Given the description of an element on the screen output the (x, y) to click on. 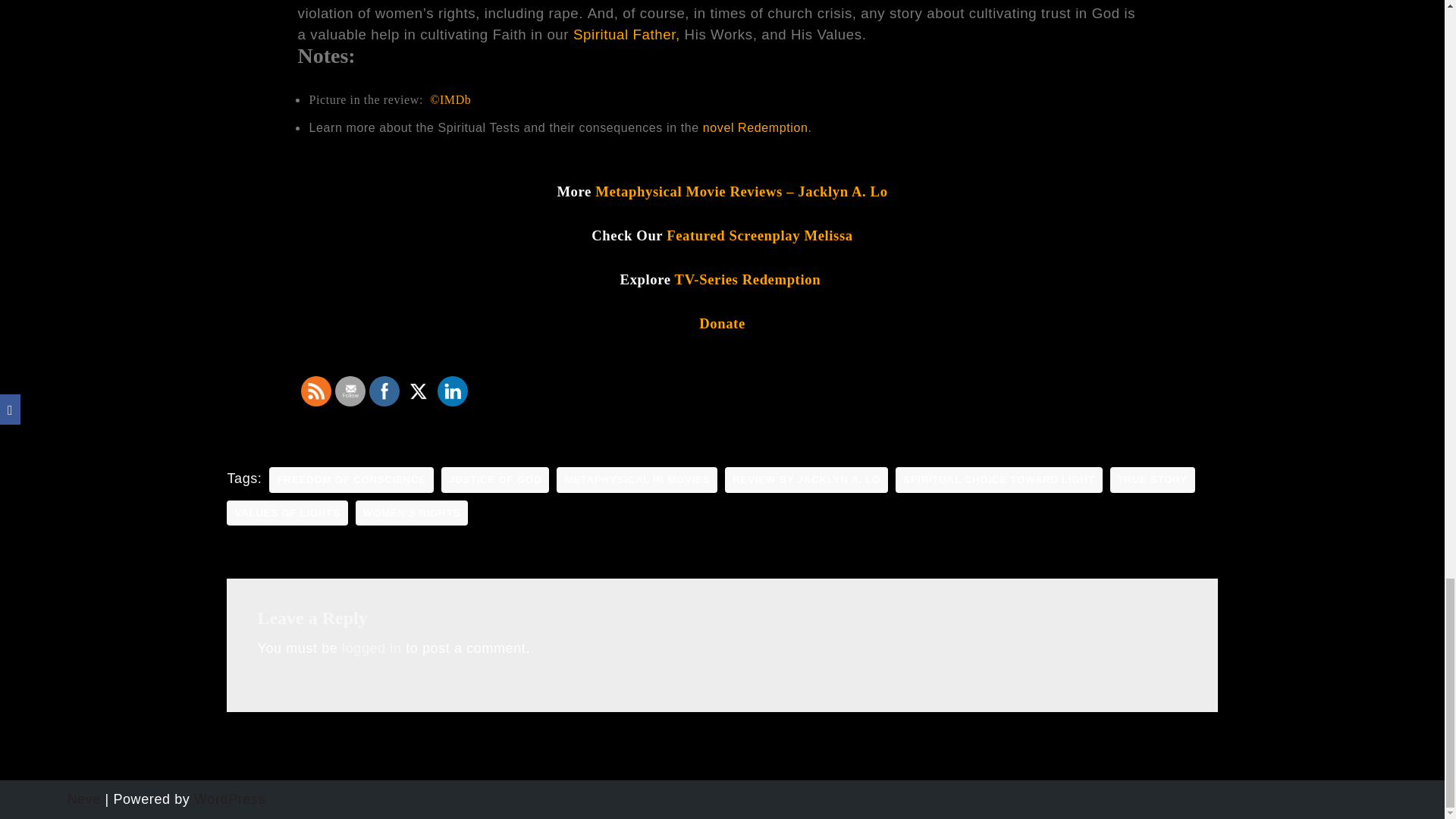
LinkedIn (452, 391)
Facebook (384, 391)
Twitter (418, 391)
Follow by Email (350, 391)
